Given the description of an element on the screen output the (x, y) to click on. 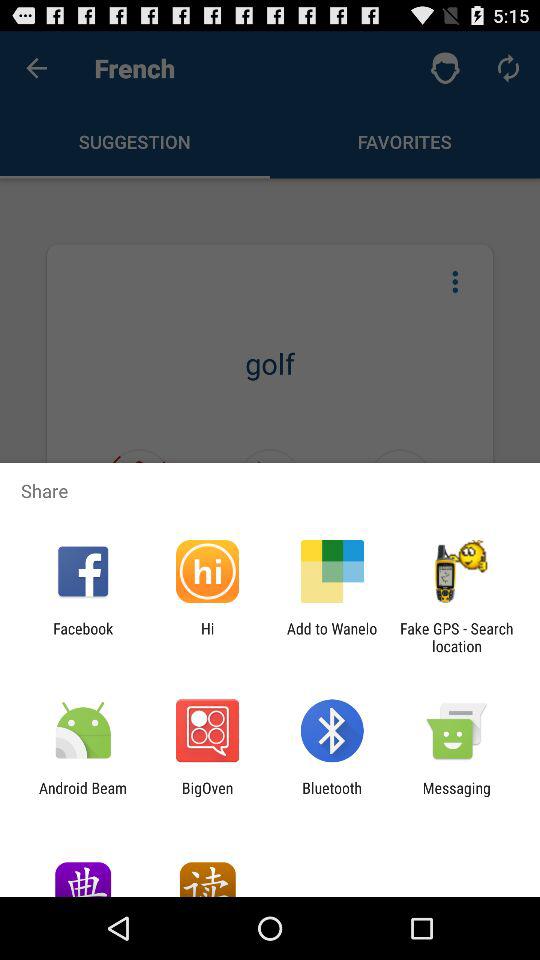
choose bigoven app (207, 796)
